Given the description of an element on the screen output the (x, y) to click on. 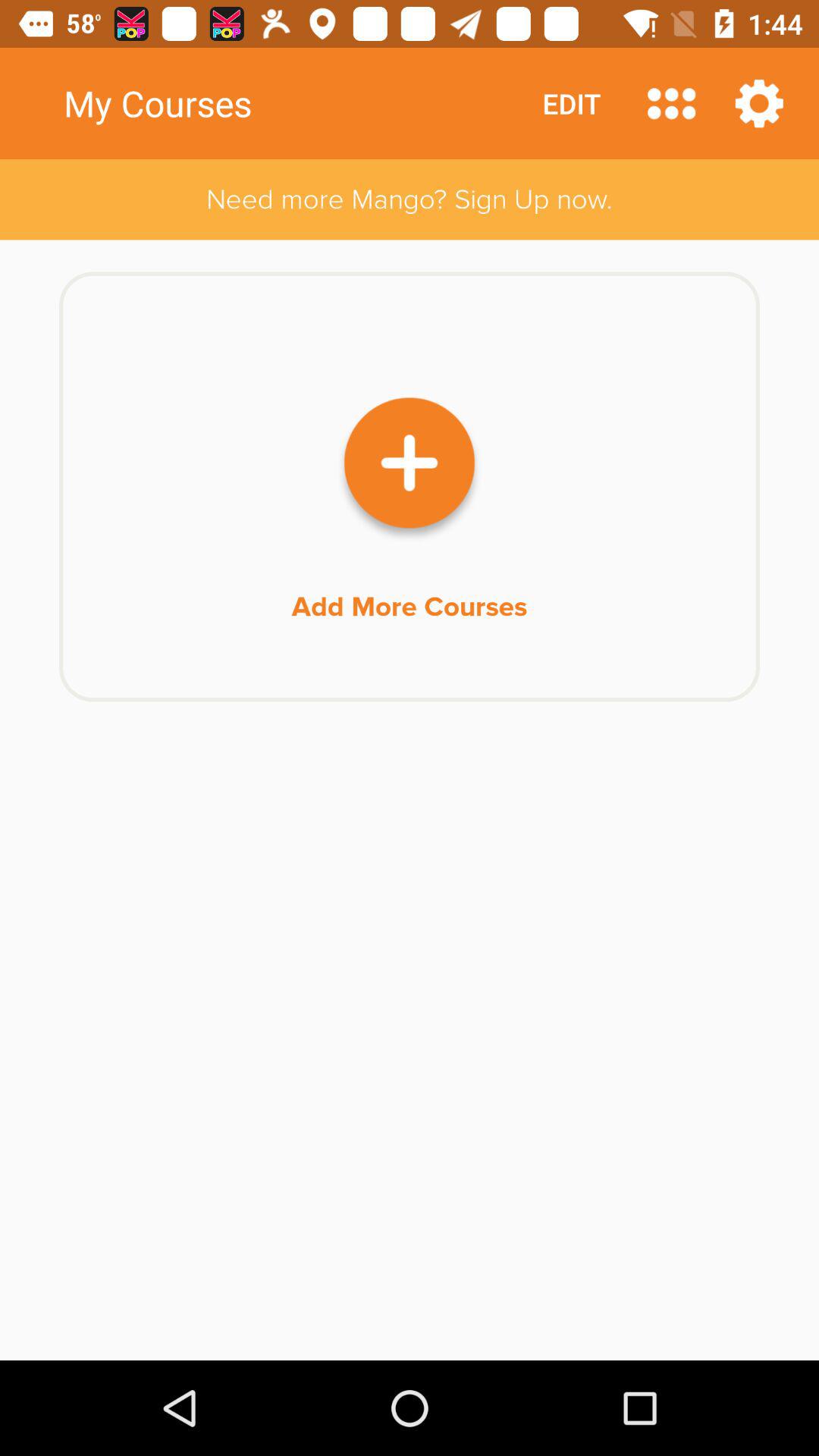
view all courses (671, 103)
